Given the description of an element on the screen output the (x, y) to click on. 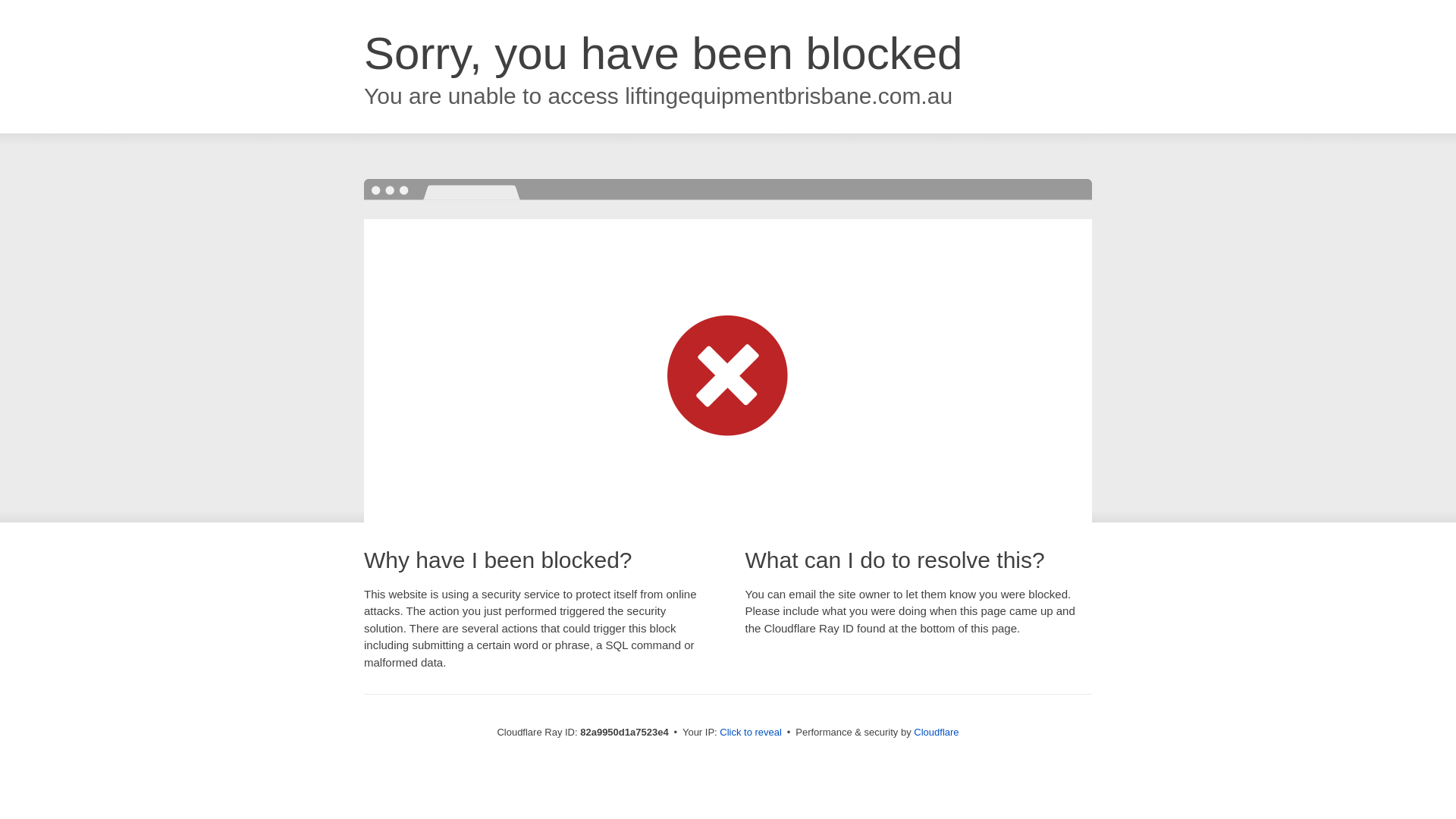
Click to reveal Element type: text (750, 732)
Cloudflare Element type: text (935, 731)
